Given the description of an element on the screen output the (x, y) to click on. 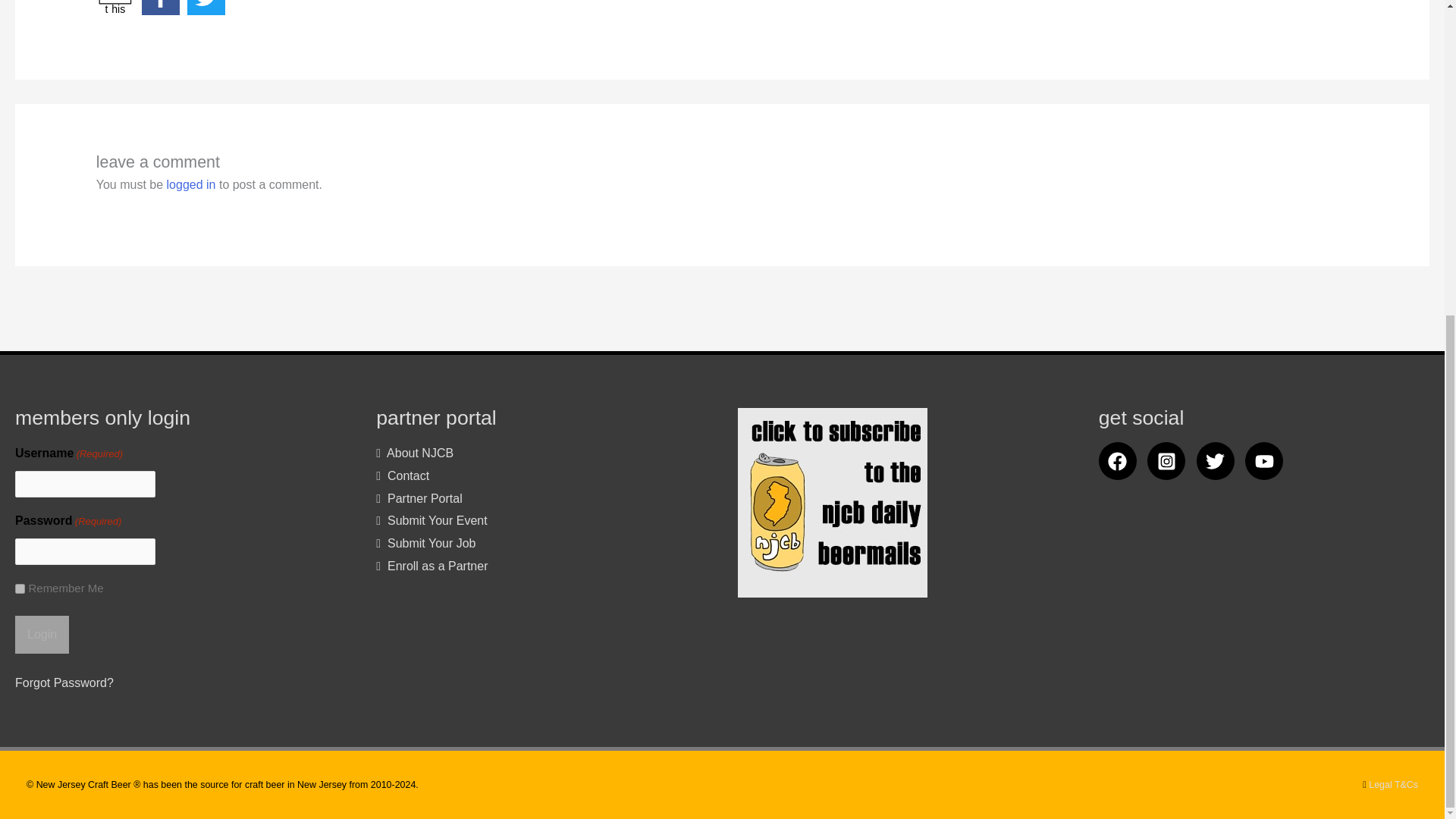
Login (41, 633)
1 (114, 7)
